Given the description of an element on the screen output the (x, y) to click on. 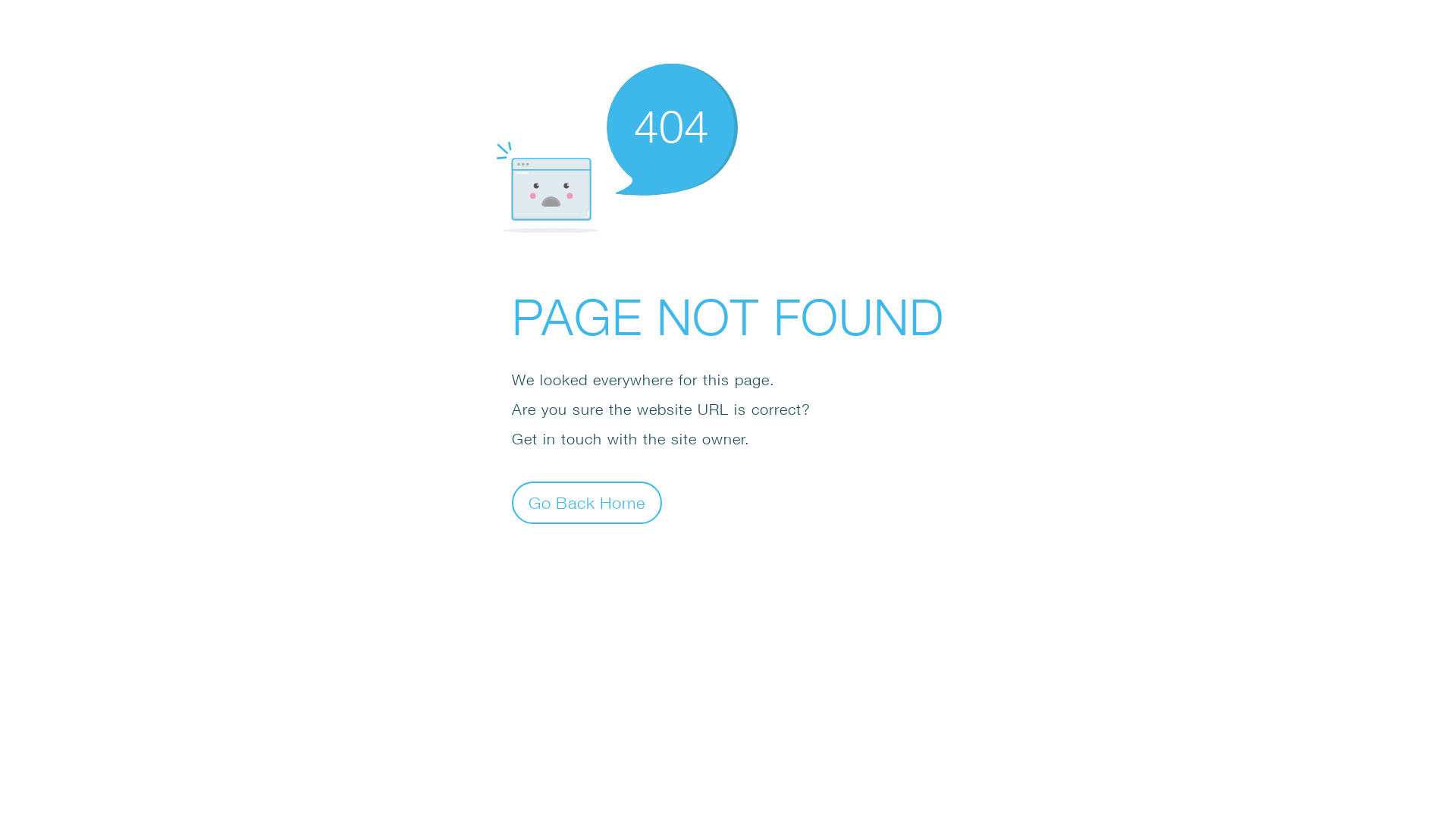
Go Back Home Element type: text (586, 502)
